Given the description of an element on the screen output the (x, y) to click on. 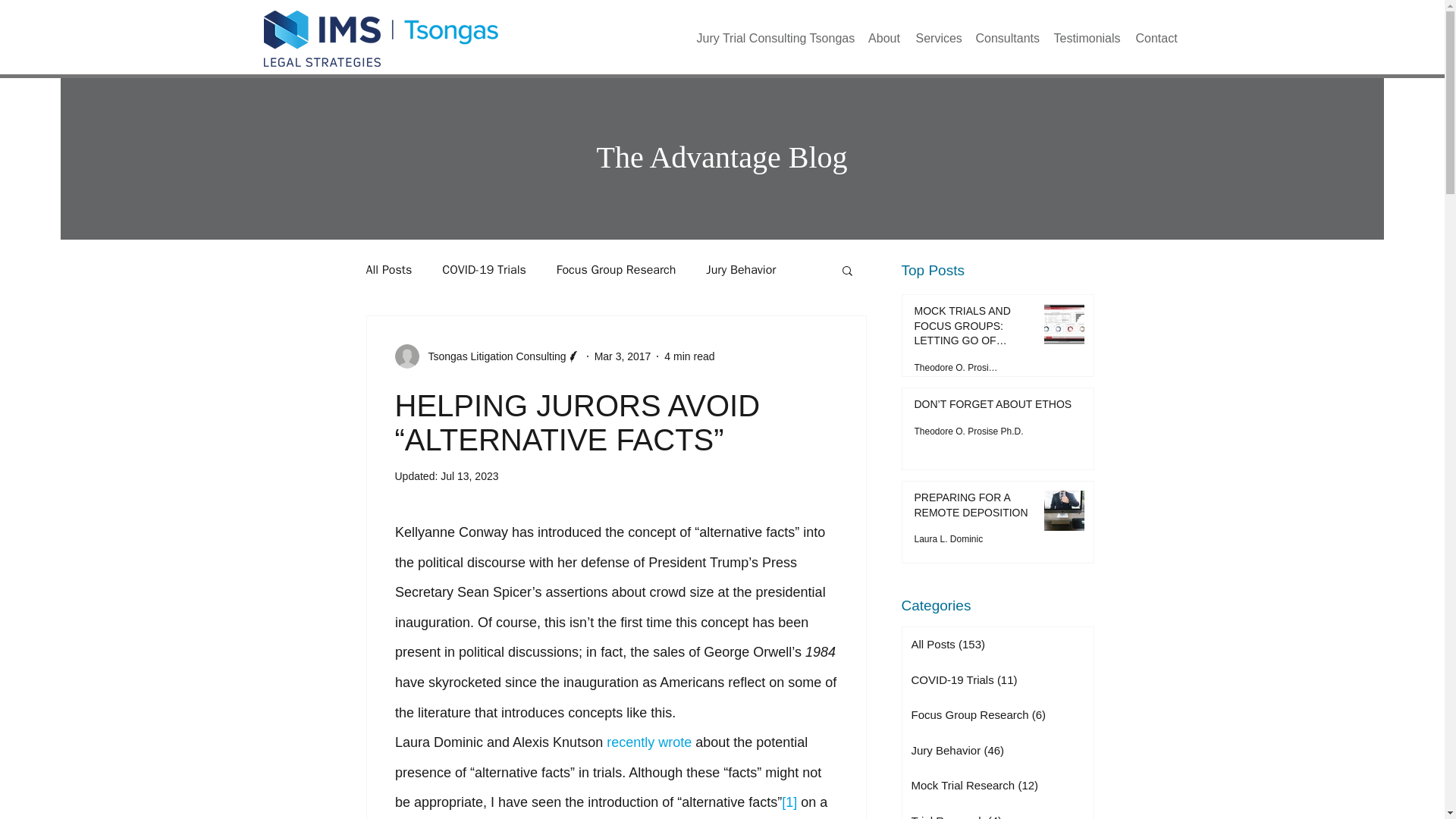
Theodore O. Prosise Ph.D. (957, 367)
recently wrote (649, 742)
Laura L. Dominic (949, 538)
Testimonials (1087, 38)
Consultants (1006, 38)
4 min read (688, 356)
All Posts (388, 270)
Theodore O. Prosise Ph.D. (968, 430)
Contact (1156, 38)
Jury Trial Consulting Tsongas (774, 38)
Jul 13, 2023 (469, 476)
Jury Behavior (741, 270)
Focus Group Research (616, 270)
About (883, 38)
COVID-19 Trials (483, 270)
